Given the description of an element on the screen output the (x, y) to click on. 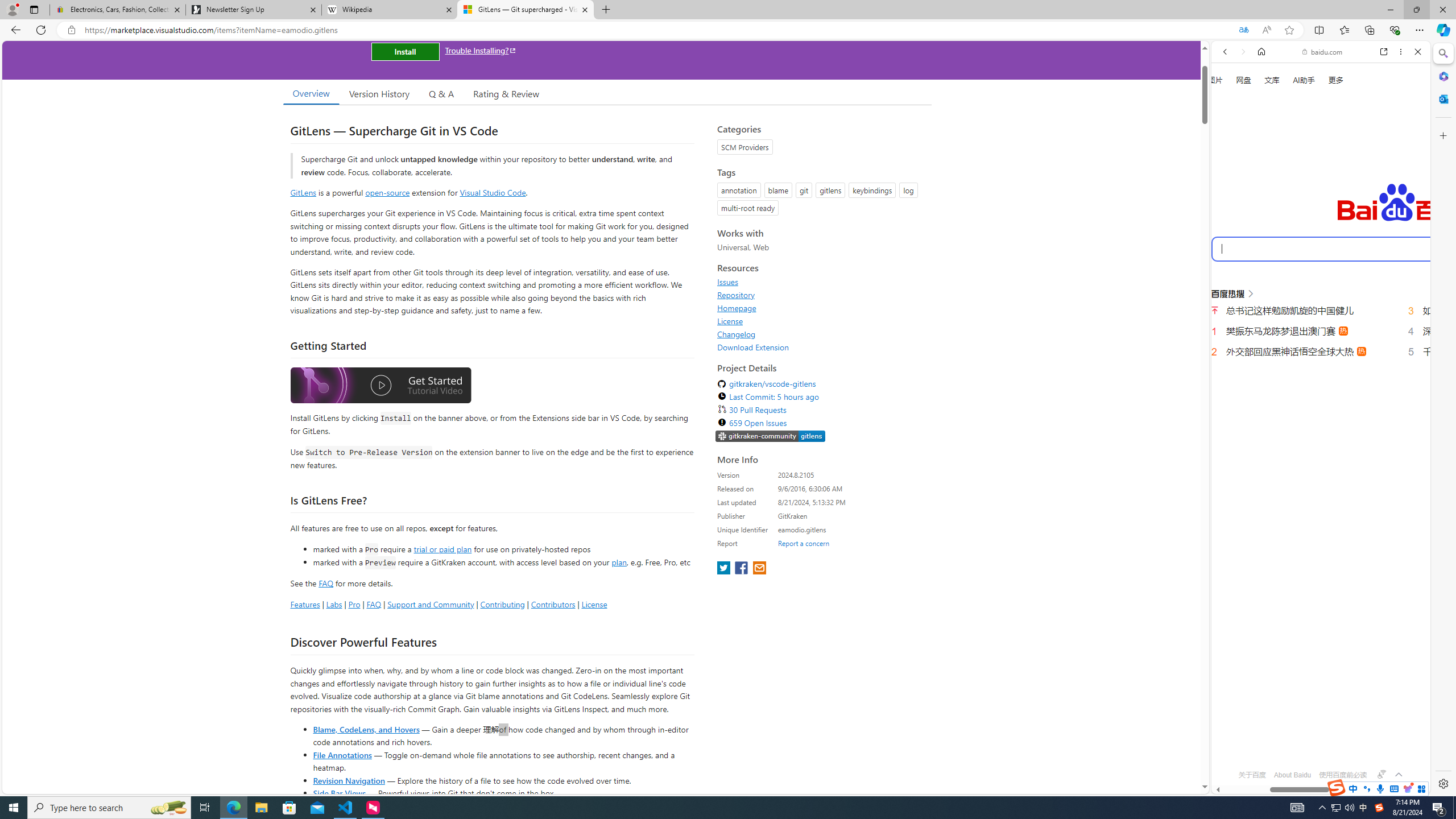
Forward (1242, 51)
Search Filter, WEB (1230, 192)
Search Filter, VIDEOS (1300, 192)
Side Bar Views (339, 792)
share extension on twitter (724, 568)
plan (618, 562)
Download Extension (753, 346)
